Given the description of an element on the screen output the (x, y) to click on. 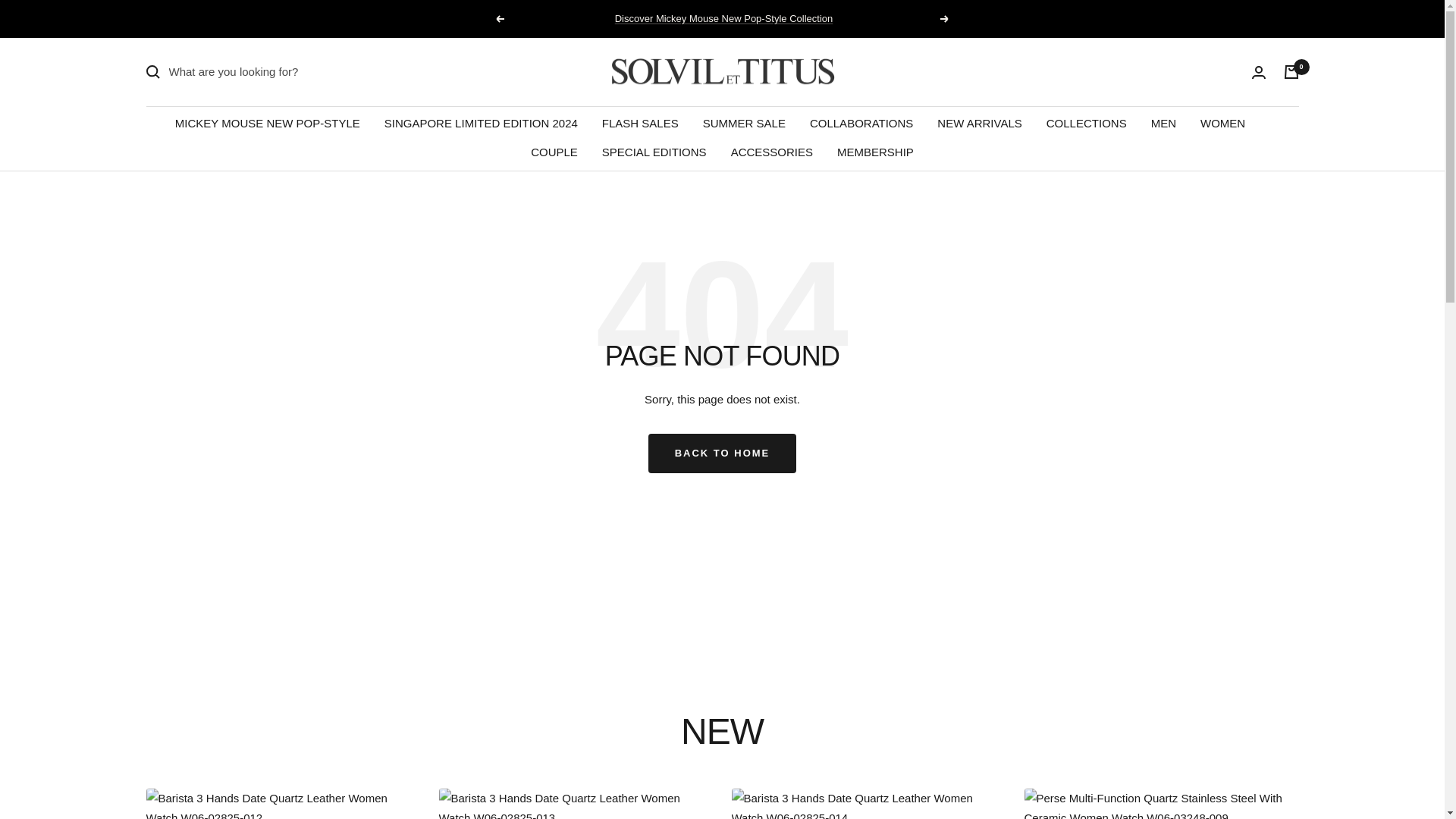
NEW ARRIVALS (979, 123)
ACCESSORIES (771, 152)
WOMEN (1221, 123)
BACK TO HOME (721, 453)
SPECIAL EDITIONS (654, 152)
COLLABORATIONS (860, 123)
MEMBERSHIP (875, 152)
SUMMER SALE (744, 123)
Next (944, 18)
SINGAPORE LIMITED EDITION 2024 (481, 123)
MEN (1163, 123)
Solvil et Titus Singapore (721, 72)
COUPLE (554, 152)
Discover Mickey Mouse New Pop-Style Collection (723, 18)
MICKEY MOUSE NEW POP-STYLE (266, 123)
